Given the description of an element on the screen output the (x, y) to click on. 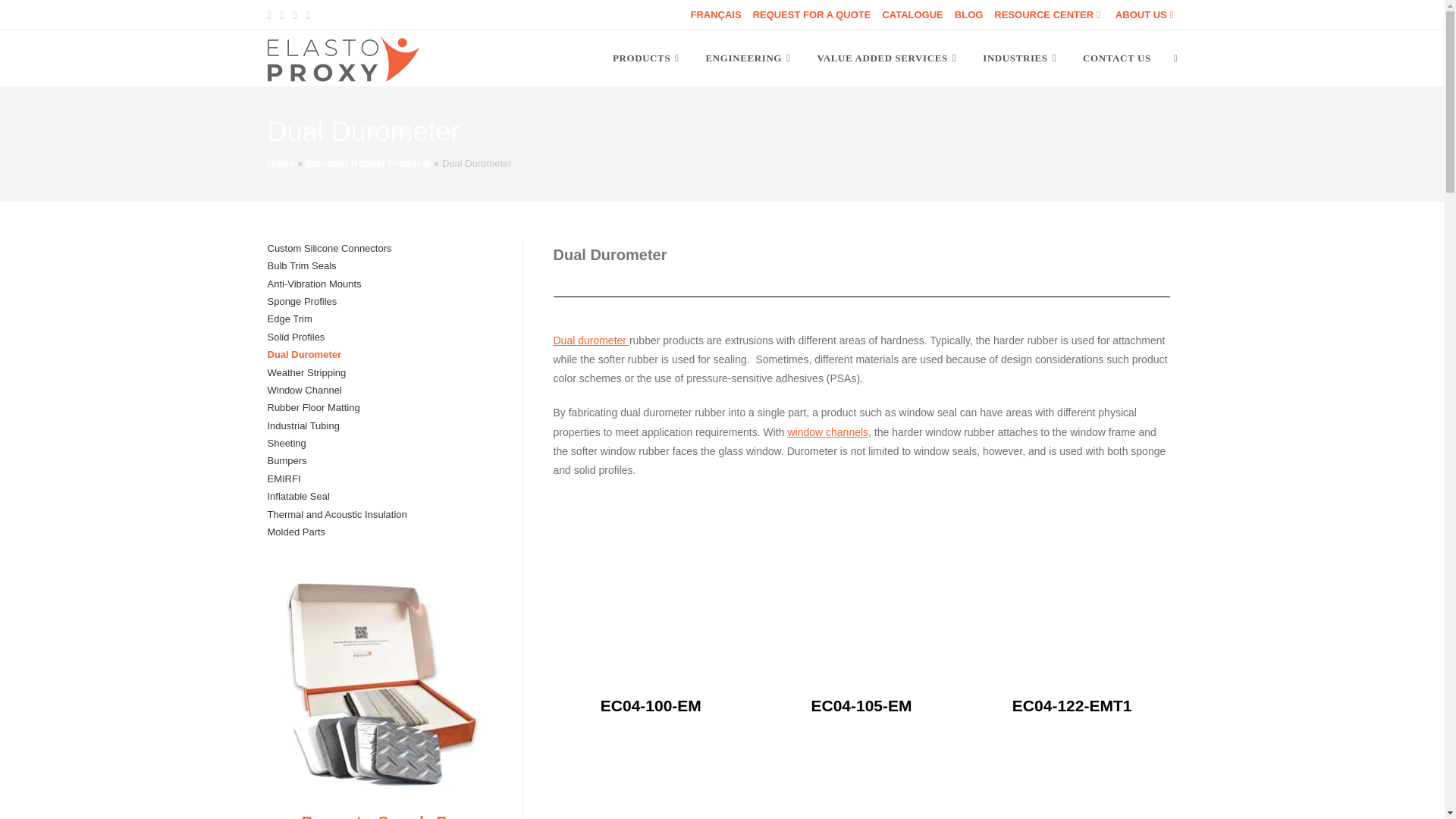
RESOURCE CENTER (1048, 14)
CATALOGUE (912, 14)
REQUEST FOR A QUOTE (811, 14)
ABOUT US (1146, 14)
BLOG (969, 14)
